Given the description of an element on the screen output the (x, y) to click on. 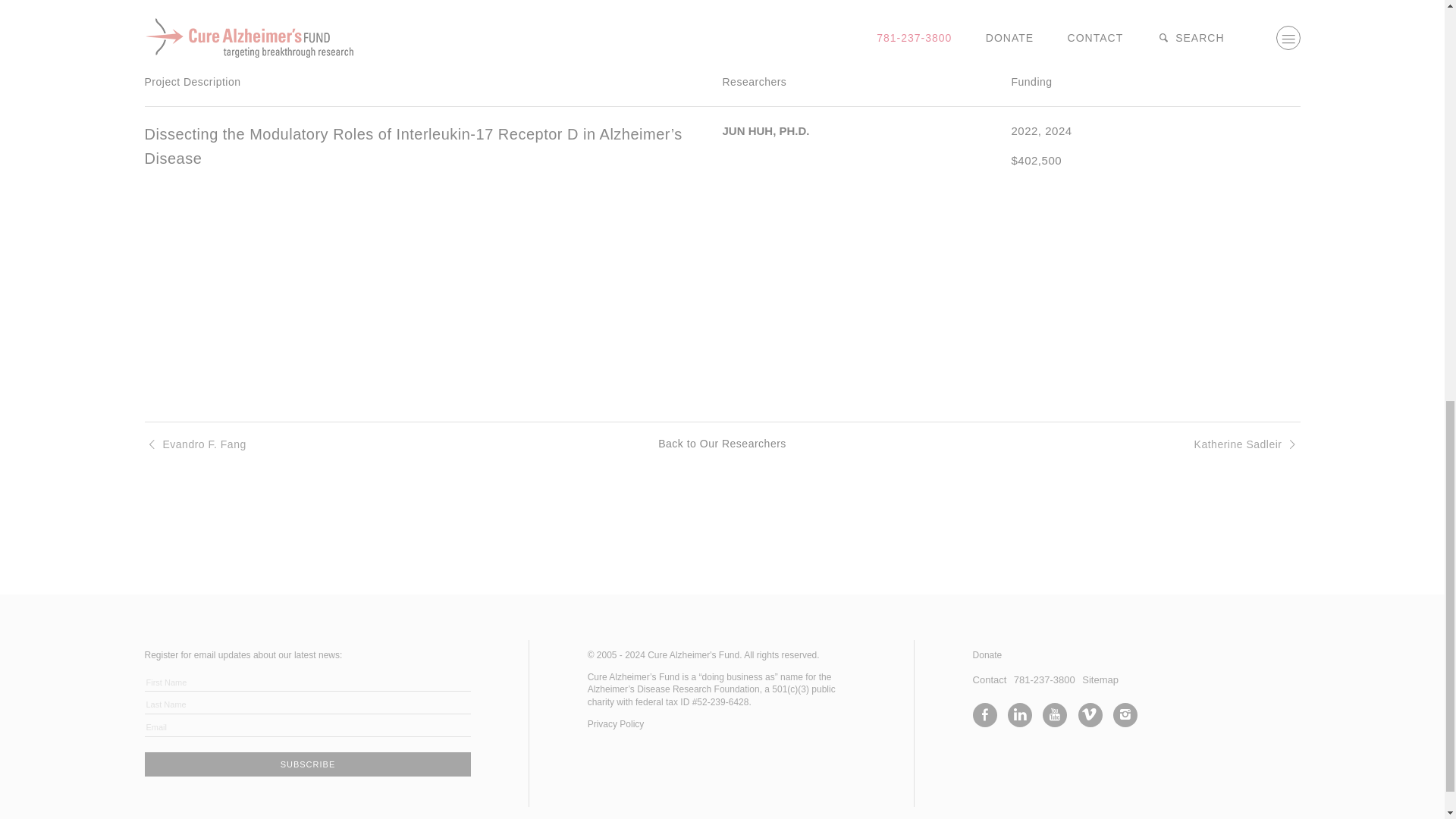
Subscribe (307, 764)
